Given the description of an element on the screen output the (x, y) to click on. 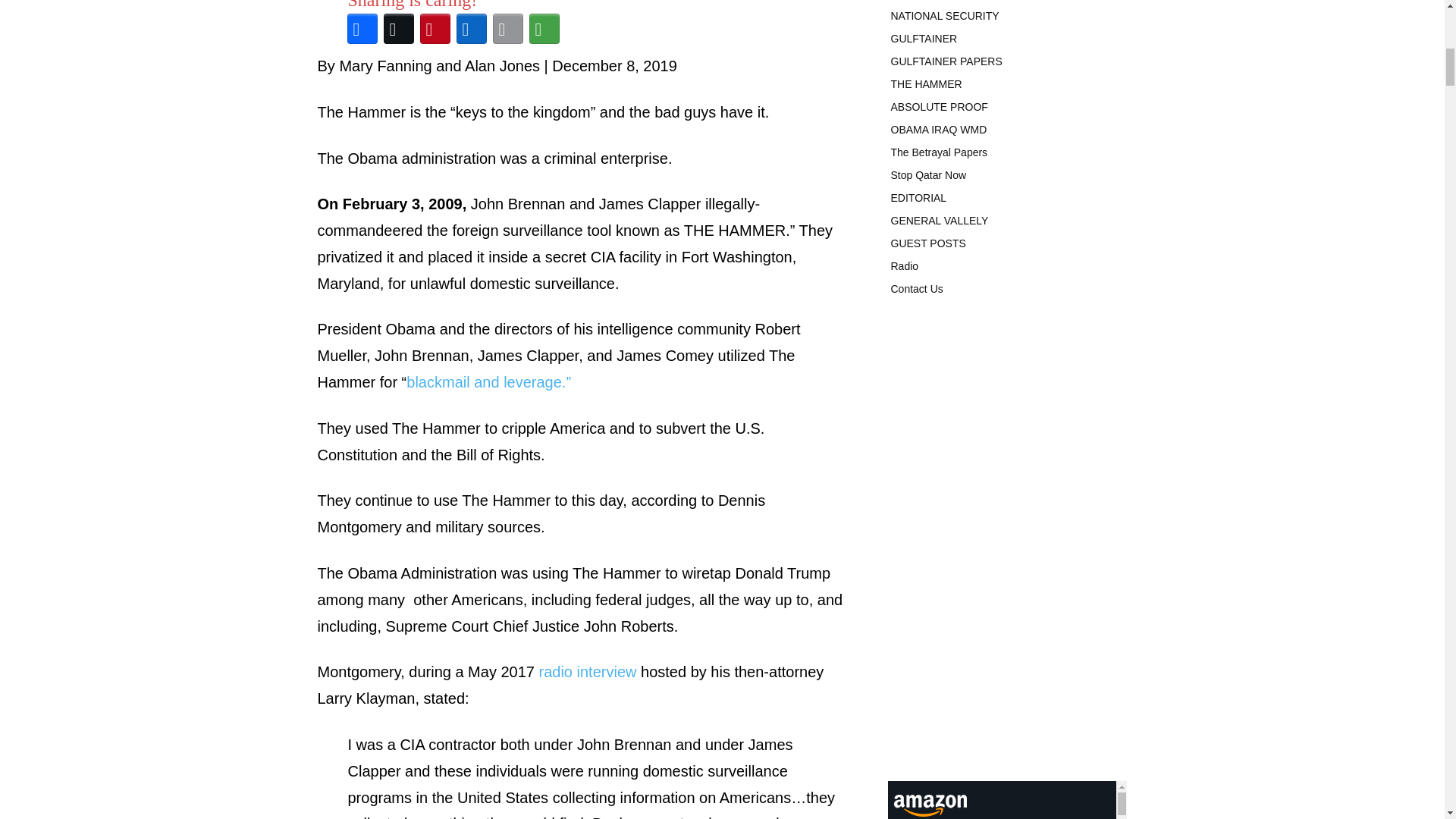
LinkedIn (470, 28)
Facebook (361, 28)
Email This (507, 28)
Pinterest (434, 28)
